Given the description of an element on the screen output the (x, y) to click on. 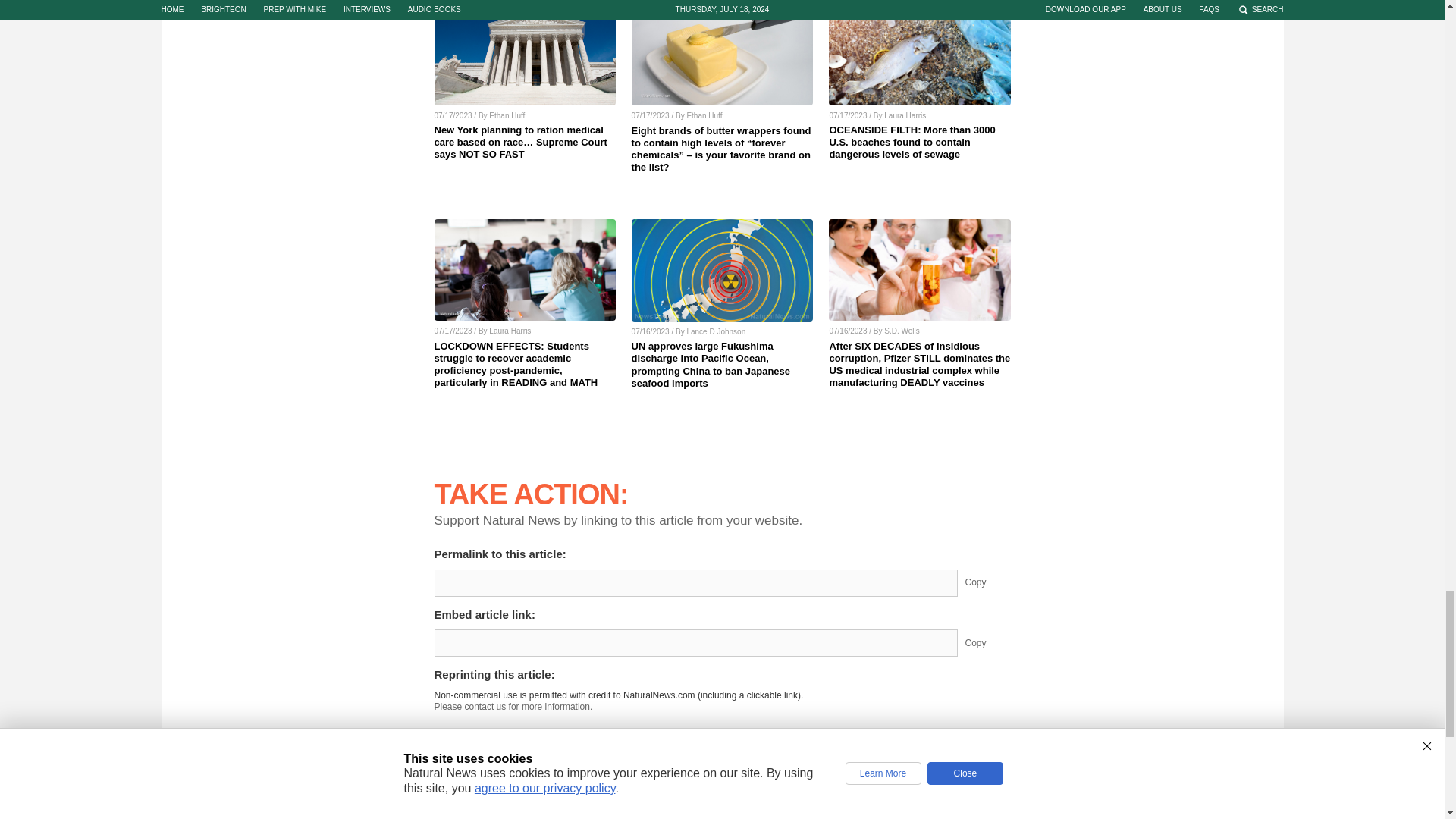
Copy Embed Link (986, 642)
Copy Permalink (986, 582)
